Given the description of an element on the screen output the (x, y) to click on. 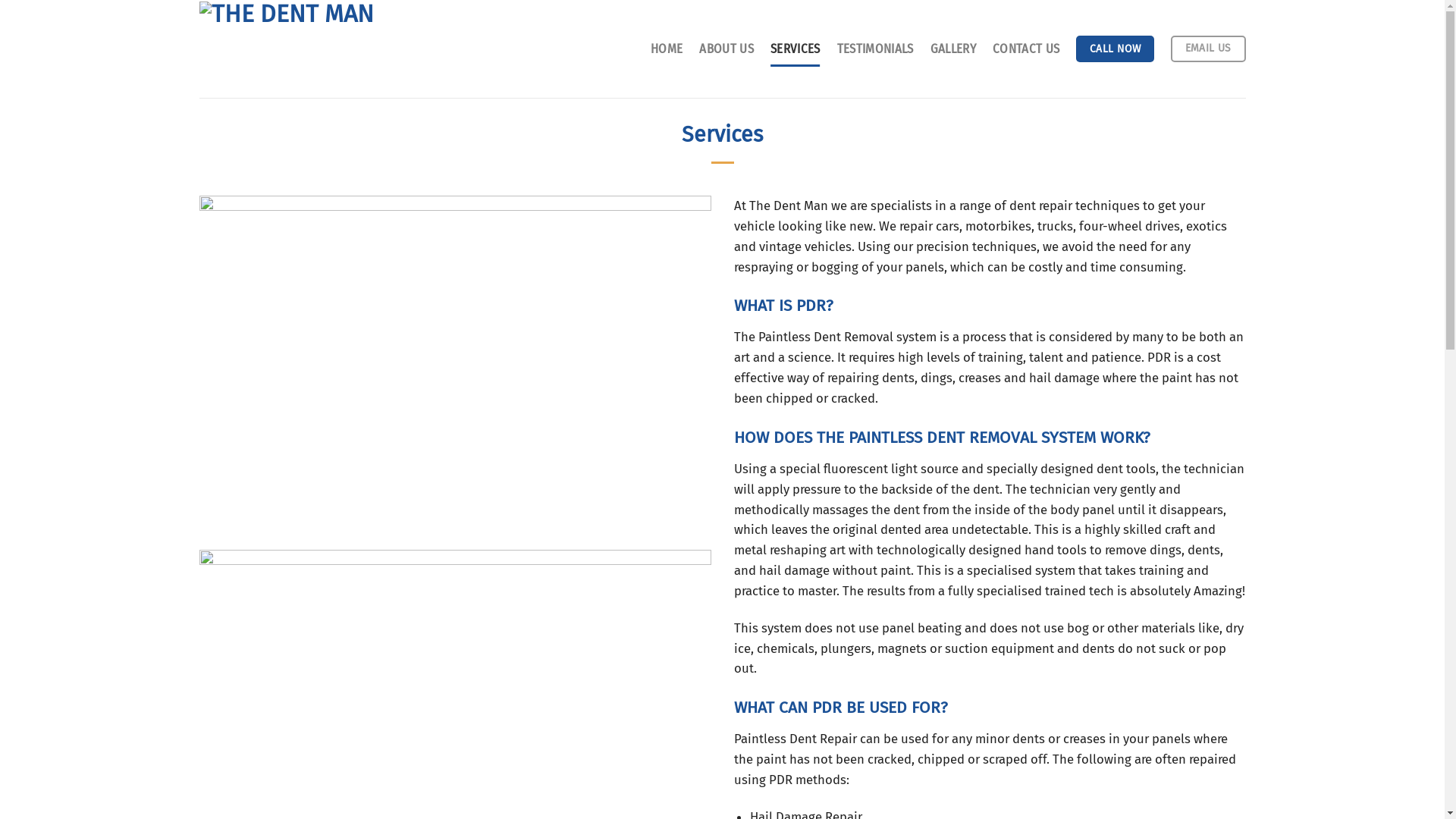
CALL NOW Element type: text (1115, 48)
TESTIMONIALS Element type: text (875, 48)
HOME Element type: text (666, 48)
ABOUT US Element type: text (726, 48)
GALLERY Element type: text (952, 48)
Skip to content Element type: text (0, 0)
CONTACT US Element type: text (1025, 48)
SERVICES Element type: text (795, 48)
EMAIL US Element type: text (1207, 48)
